Given the description of an element on the screen output the (x, y) to click on. 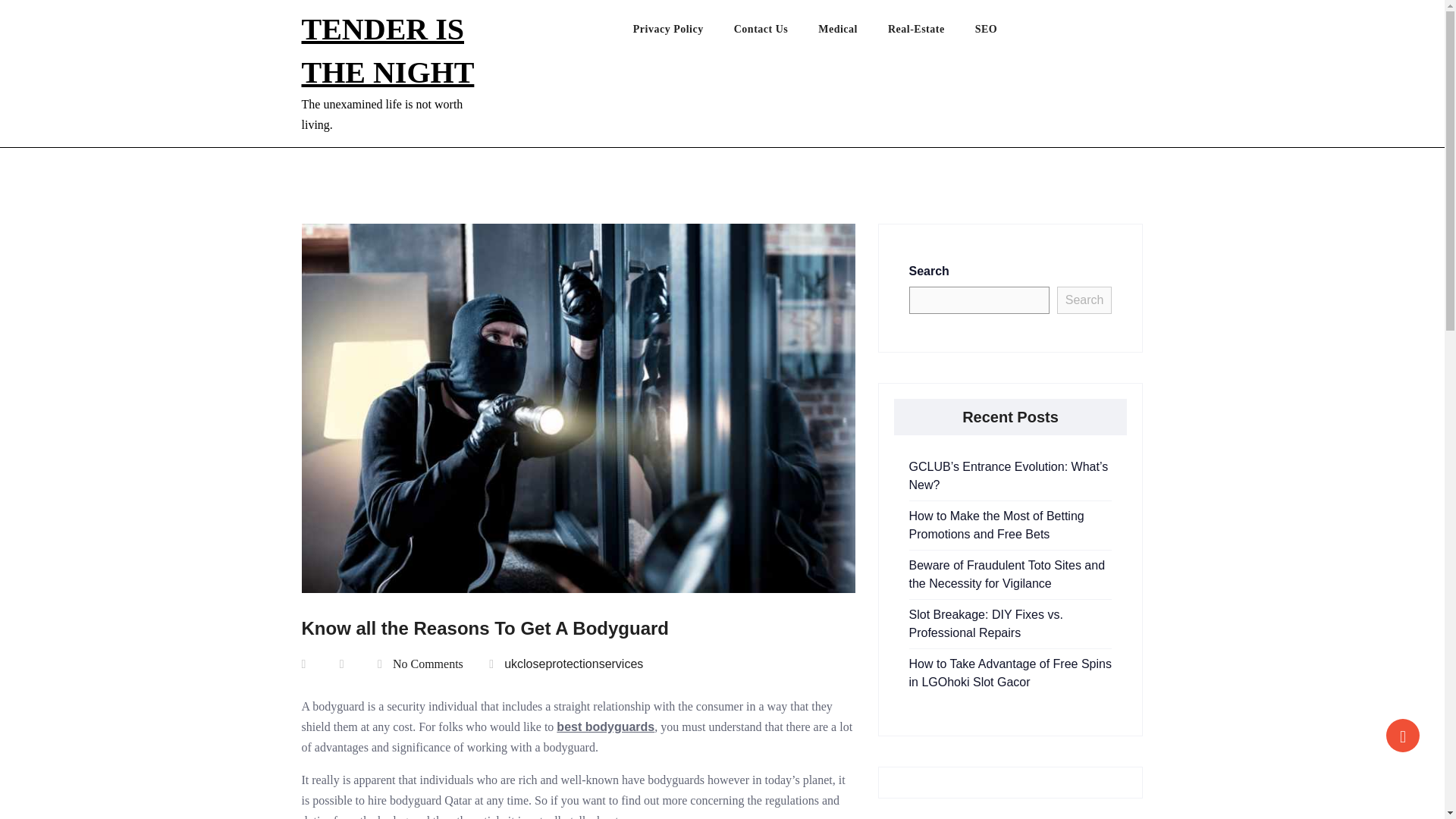
Search (1084, 299)
ukcloseprotectionservices (573, 663)
Medical (853, 32)
Slot Breakage: DIY Fixes vs. Professional Repairs (985, 623)
How to Take Advantage of Free Spins in LGOhoki Slot Gacor (1009, 672)
best bodyguards (604, 726)
How to Make the Most of Betting Promotions and Free Bets (995, 524)
Real-Estate (931, 32)
TENDER IS THE NIGHT (387, 50)
SEO (1001, 32)
